Given the description of an element on the screen output the (x, y) to click on. 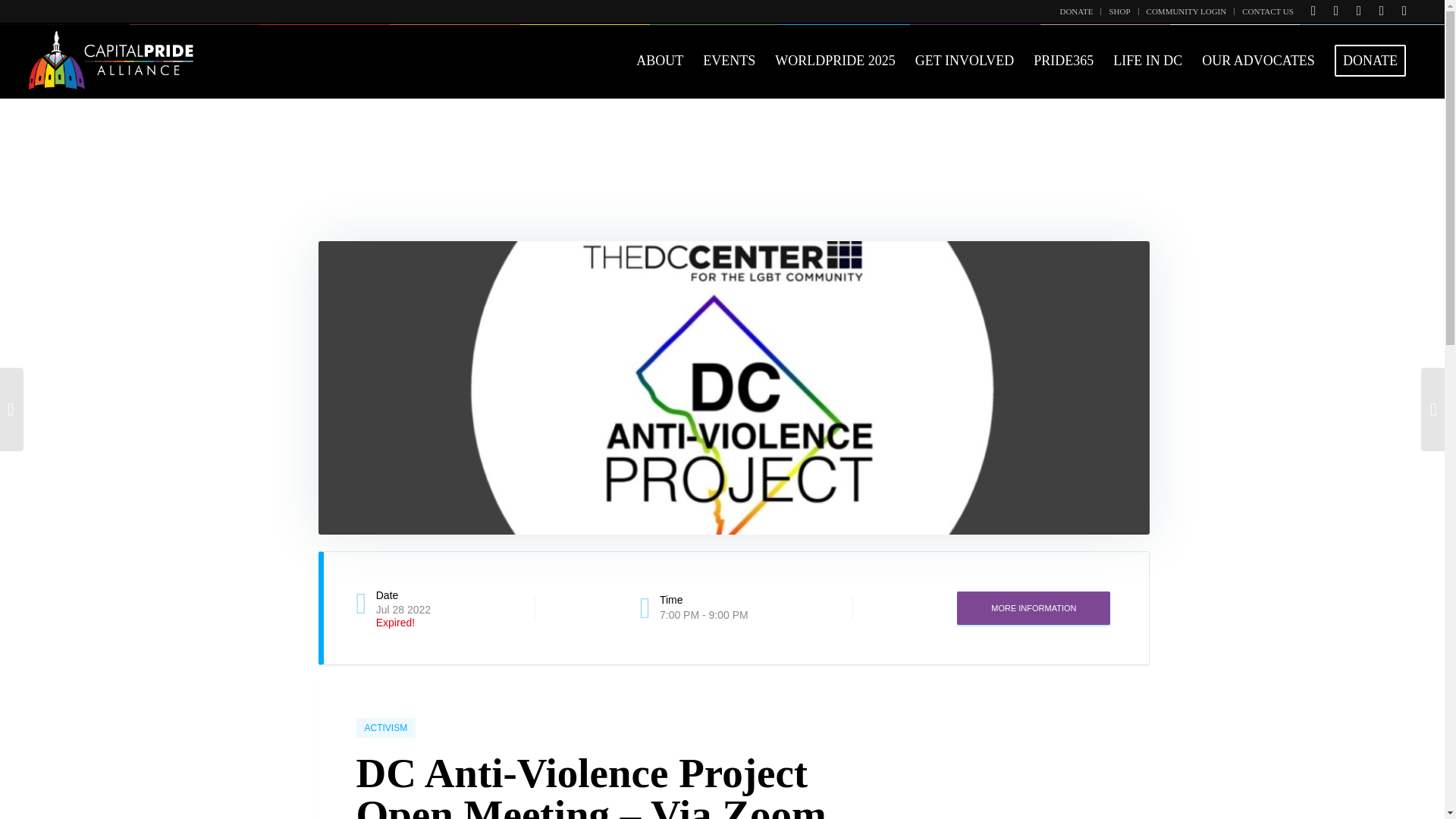
Youtube (1359, 11)
Instagram (1381, 11)
Flickr (1404, 11)
Facebook (1336, 11)
SHOP (1118, 11)
COMMUNITY LOGIN (1187, 11)
Twitter (1312, 11)
EVENTS (729, 60)
CONTACT US (1267, 11)
DONATE (1076, 11)
WORLDPRIDE 2025 (835, 60)
